Given the description of an element on the screen output the (x, y) to click on. 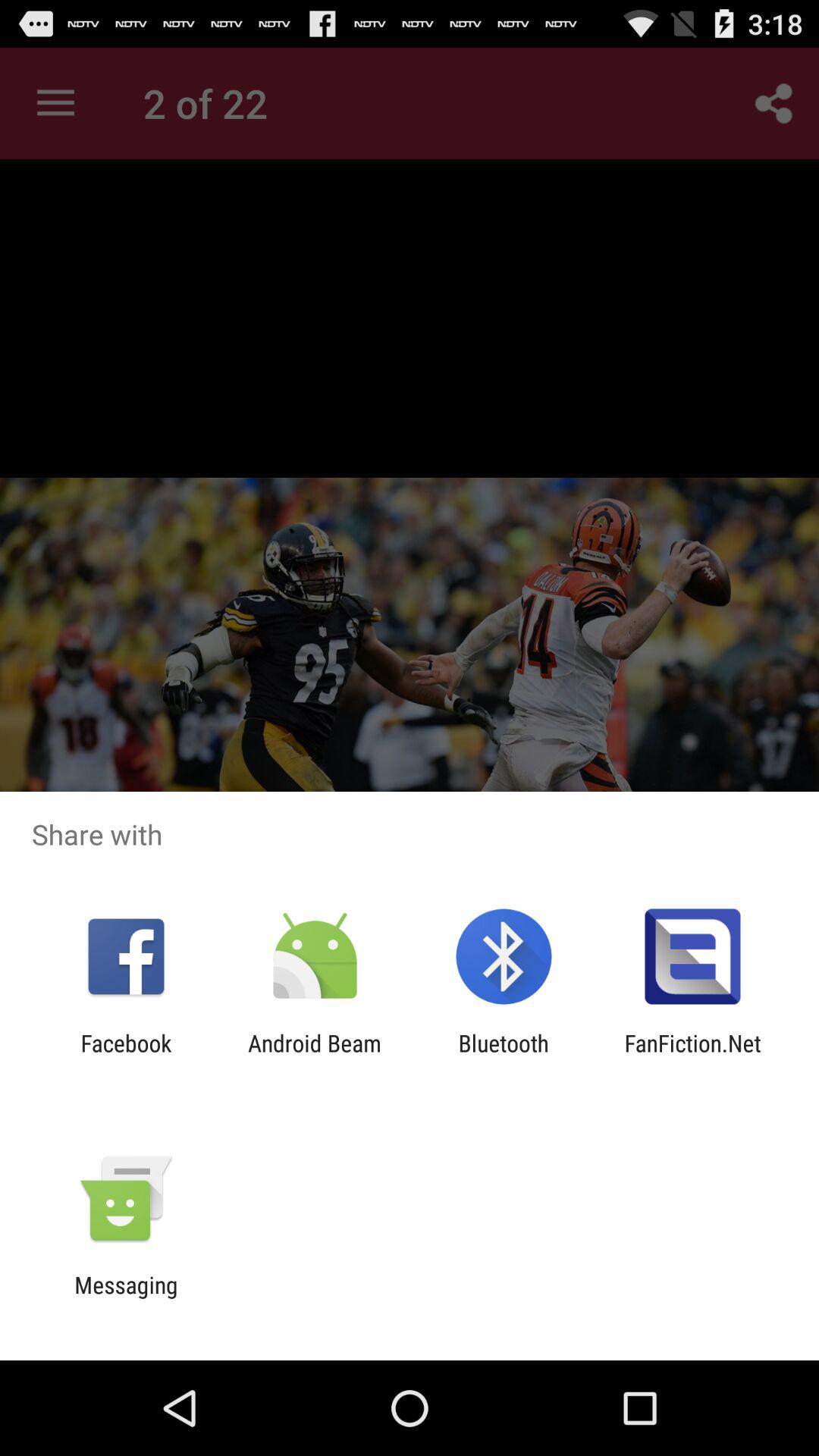
swipe to fanfiction.net item (692, 1056)
